Given the description of an element on the screen output the (x, y) to click on. 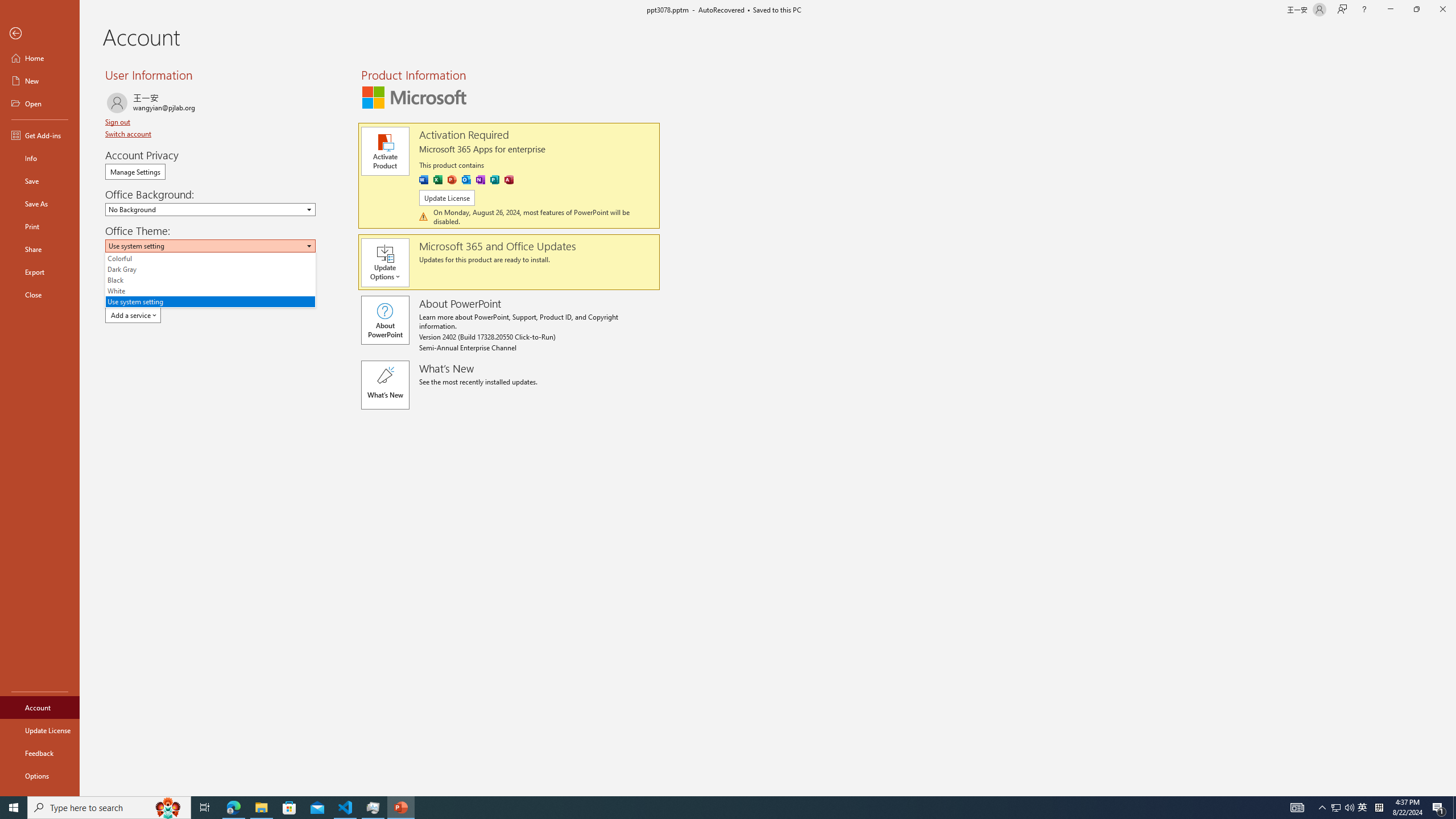
Save As (40, 203)
Update License (446, 197)
Back (40, 33)
Switch account (128, 133)
Search highlights icon opens search home window (167, 807)
